Given the description of an element on the screen output the (x, y) to click on. 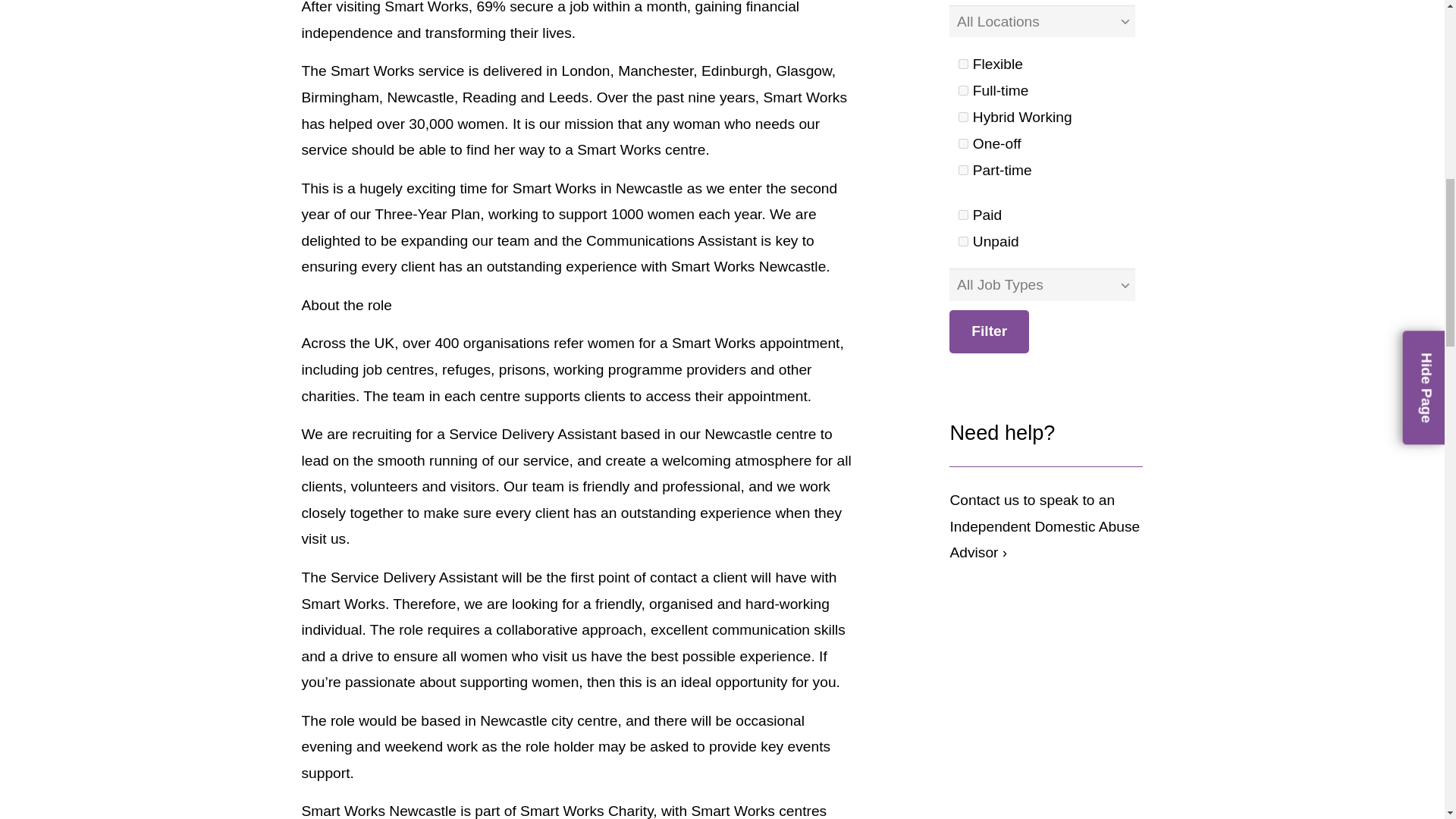
194 (963, 117)
106 (963, 90)
110 (963, 241)
107 (963, 143)
Filter (989, 331)
109 (963, 214)
182 (963, 63)
108 (963, 170)
